Given the description of an element on the screen output the (x, y) to click on. 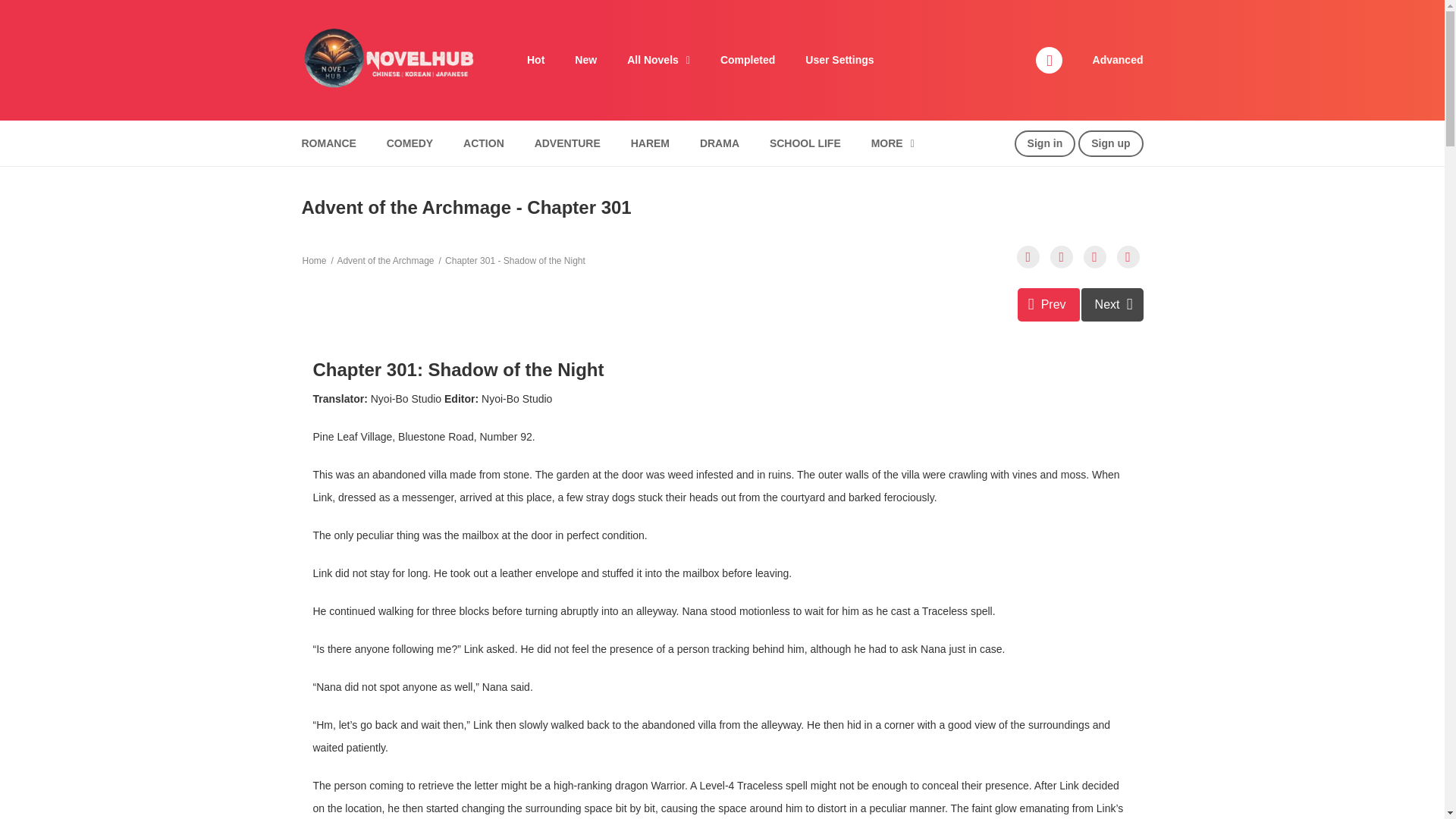
Hot (535, 59)
HAREM (650, 143)
SCHOOL LIFE (805, 143)
User Settings (839, 59)
Bookmark (1094, 256)
All Novels (657, 59)
DRAMA (719, 143)
Completed (747, 59)
ACTION (482, 143)
COMEDY (409, 143)
